Given the description of an element on the screen output the (x, y) to click on. 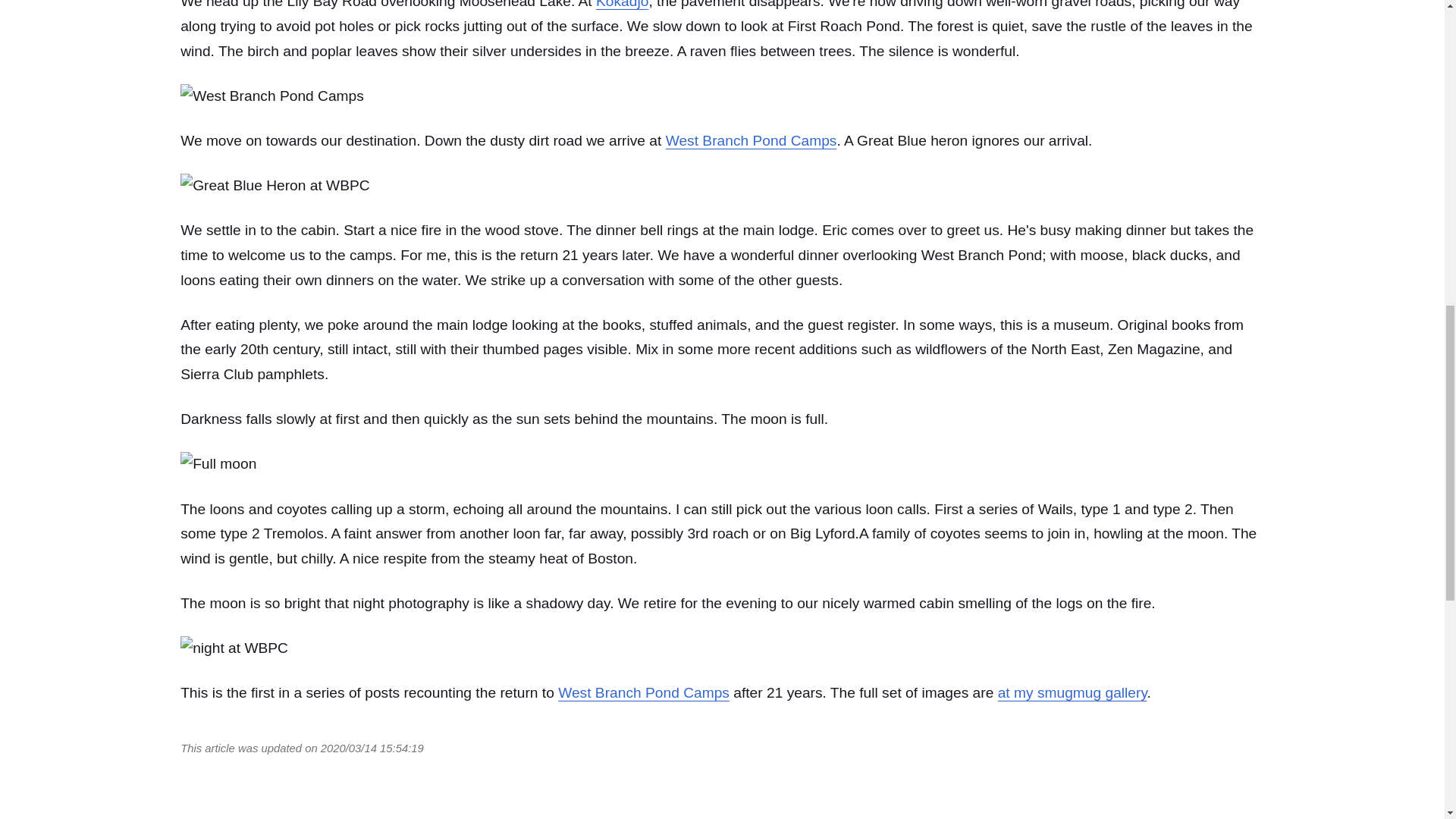
Full moon (218, 464)
at my smugmug gallery (1072, 692)
Kokadjo (621, 4)
West Branch Pond Camps (272, 96)
West Branch Pond Camps (751, 140)
night at WBPC (234, 648)
Great Blue Heron at WBPC (274, 186)
West Branch Pond Camps (643, 692)
